Given the description of an element on the screen output the (x, y) to click on. 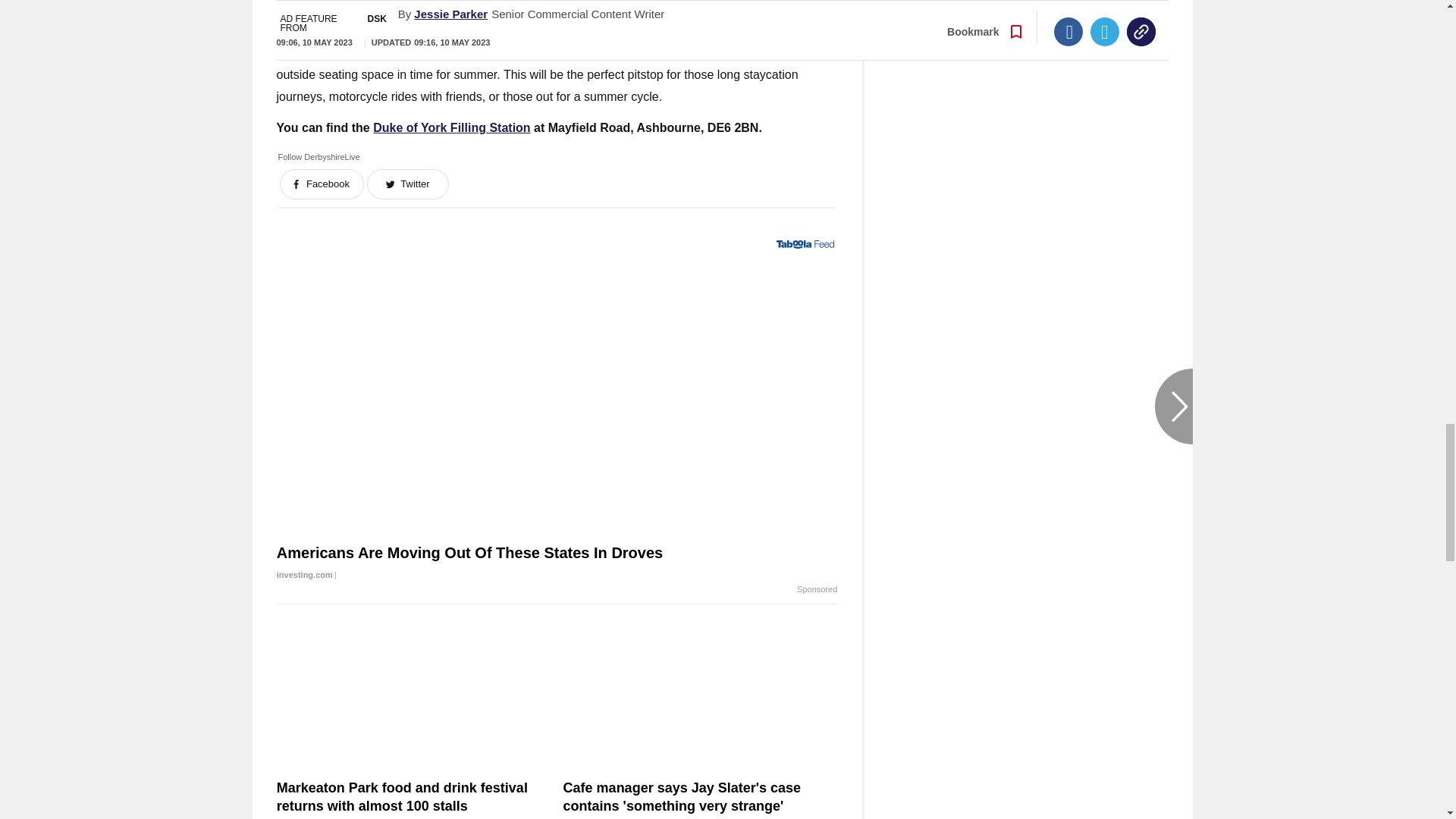
Americans Are Moving Out Of These States In Droves (557, 563)
